Given the description of an element on the screen output the (x, y) to click on. 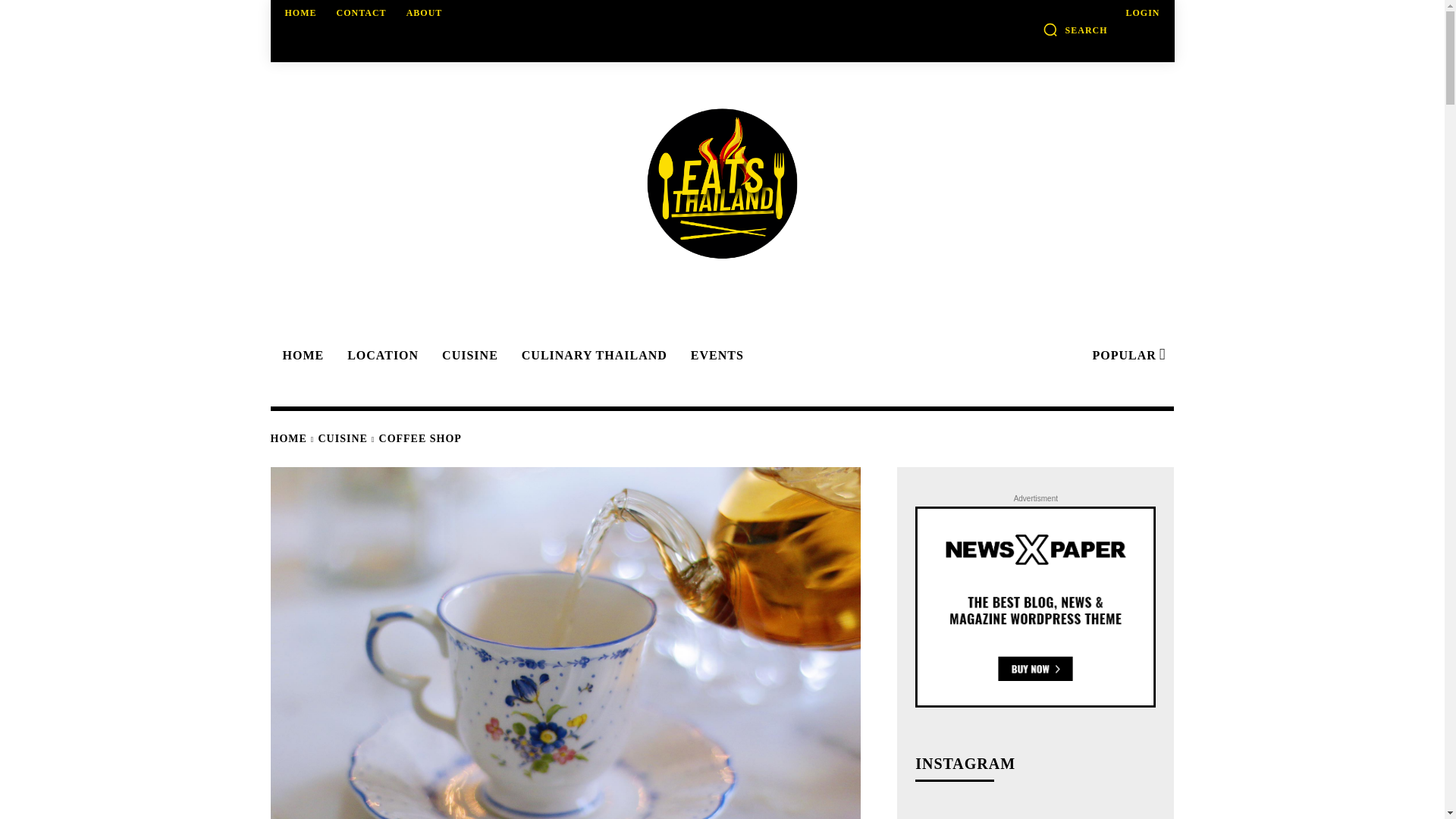
POPULAR (1126, 355)
ABOUT (423, 12)
CONTACT (361, 12)
LOCATION (380, 355)
LOGIN (1141, 12)
HOME (301, 12)
HOME (300, 355)
SEARCH (1075, 29)
